Given the description of an element on the screen output the (x, y) to click on. 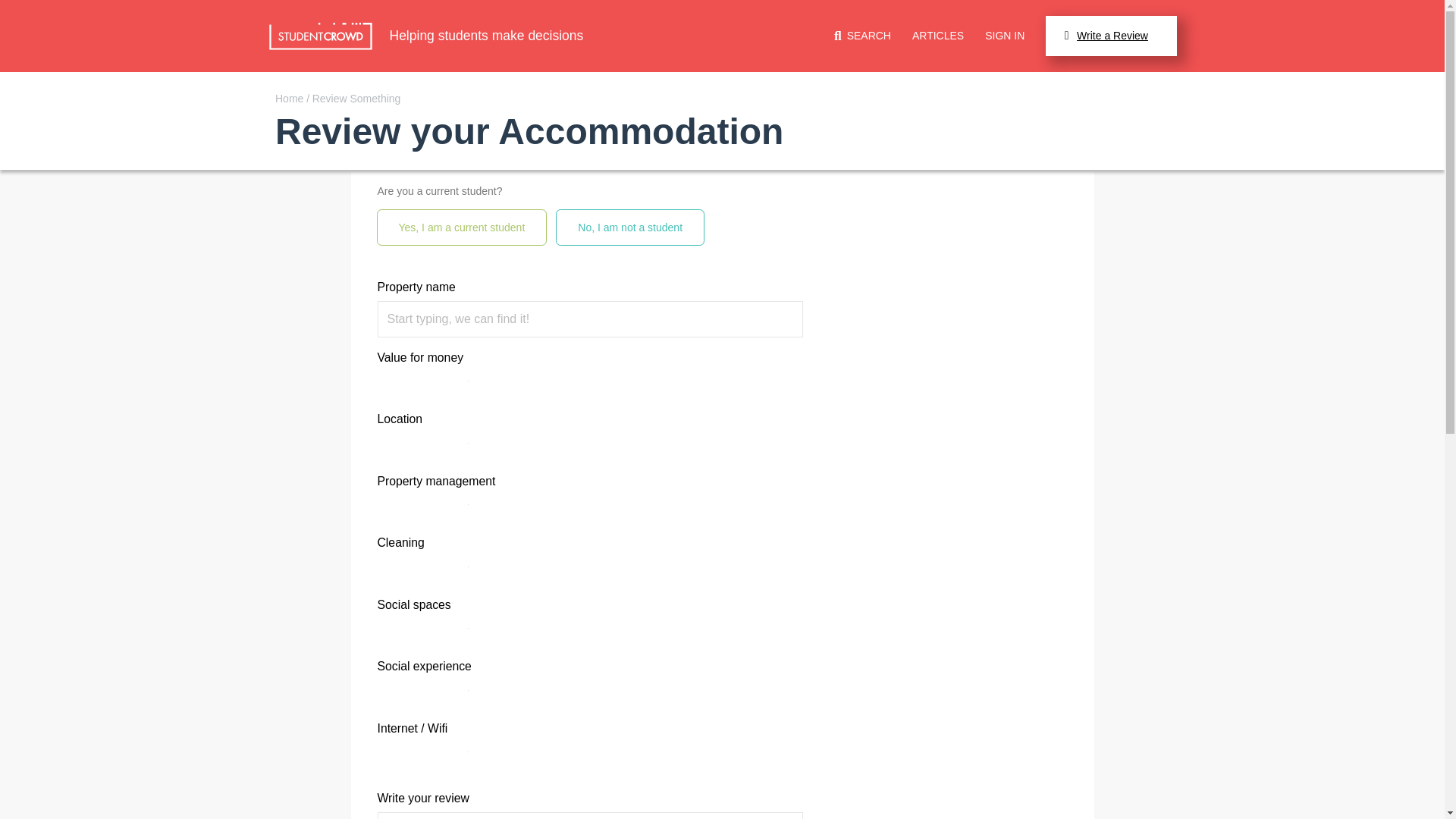
Yes, I am a current student (462, 226)
Home (290, 98)
SEARCH (862, 35)
ARTICLES (937, 35)
StudentCrowd (319, 35)
No, I am not a student (629, 226)
Write a Review (1110, 35)
SIGN IN (1005, 35)
